Given the description of an element on the screen output the (x, y) to click on. 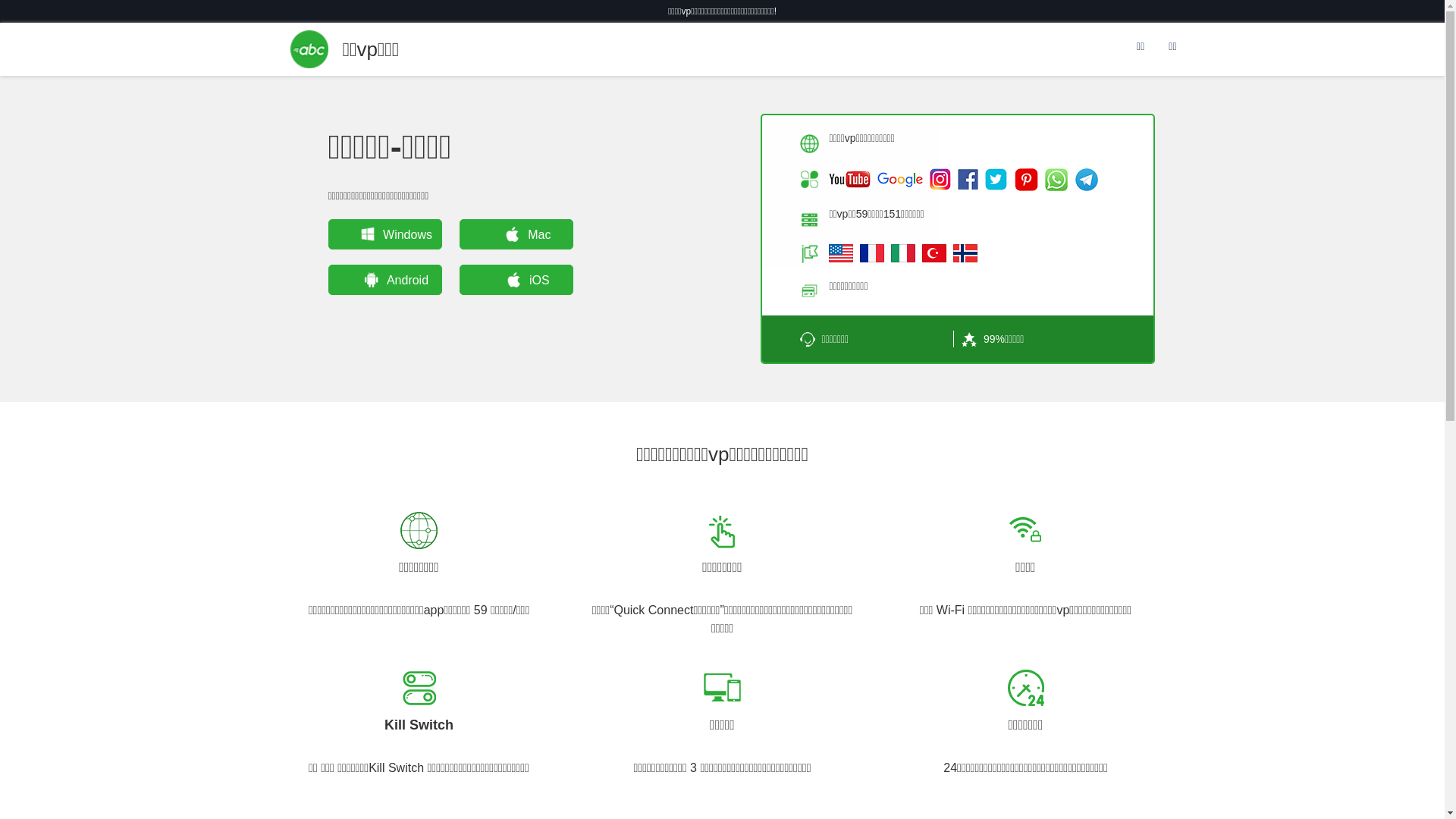
iOS Element type: text (516, 278)
Windows Element type: text (384, 233)
Mac Element type: text (516, 233)
Android Element type: text (384, 278)
